Given the description of an element on the screen output the (x, y) to click on. 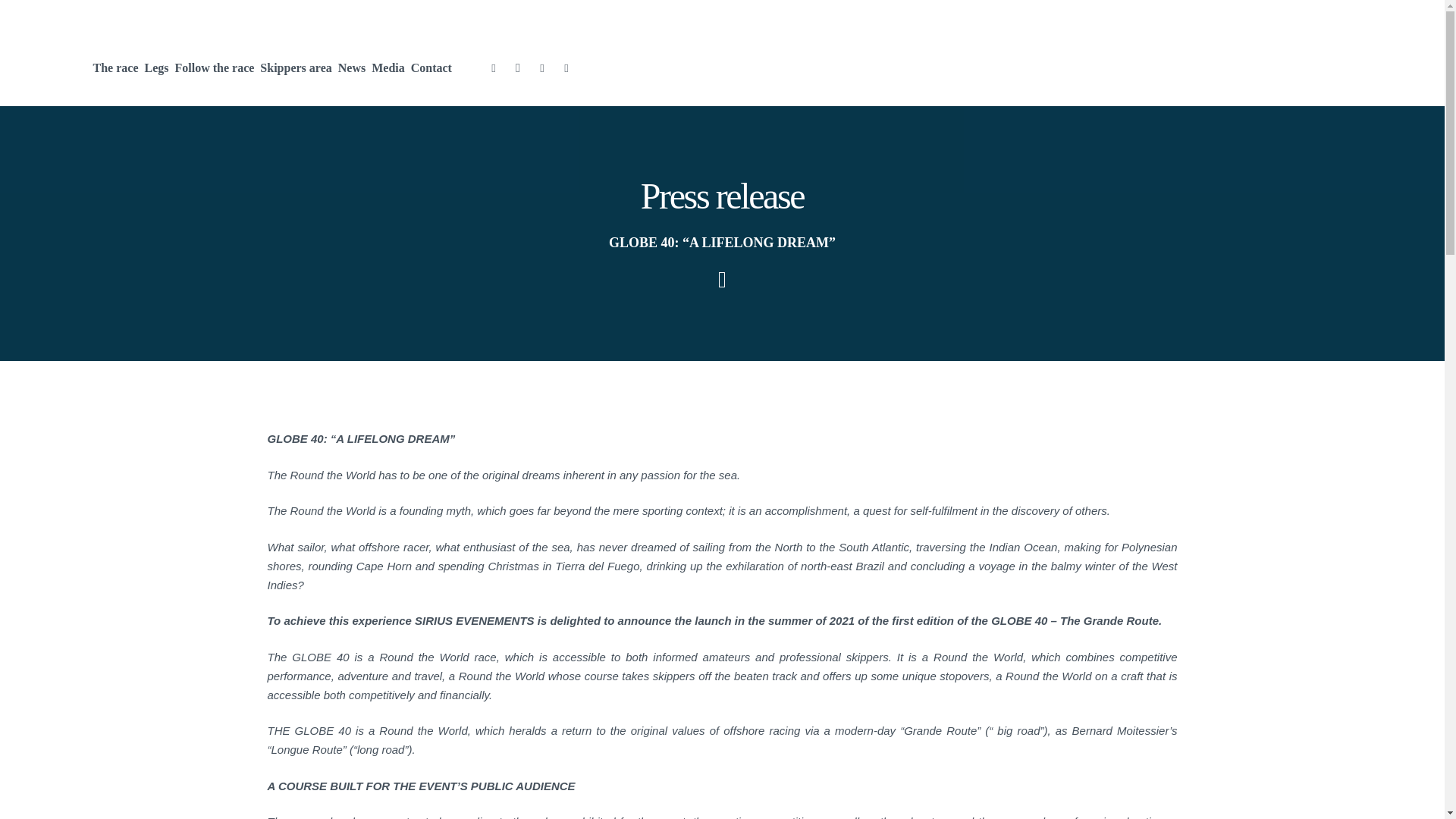
LinkedIn (566, 67)
Instagram (517, 67)
Skippers area (295, 68)
Follow the race (214, 68)
YouTube (542, 67)
Facebook (493, 67)
